Given the description of an element on the screen output the (x, y) to click on. 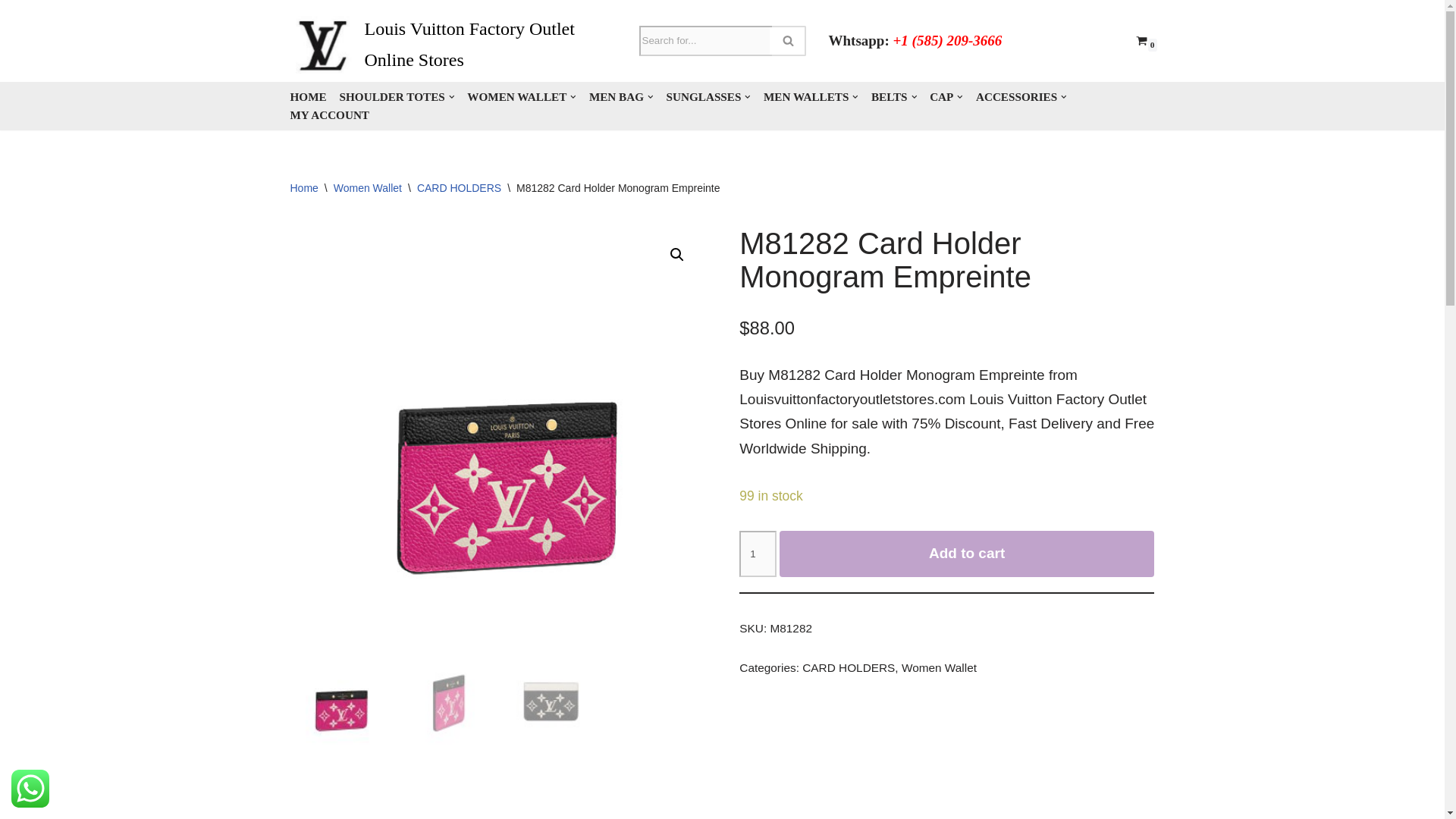
HOME (307, 96)
SHOULDER TOTES (396, 96)
Louis Vuitton Factory Outlet Online Stores (452, 44)
MEN BAG (621, 96)
WOMEN WALLET (521, 96)
0 (1141, 40)
MEN WALLETS (810, 96)
Skip to content (11, 31)
SUNGLASSES (708, 96)
BELTS (893, 96)
